Given the description of an element on the screen output the (x, y) to click on. 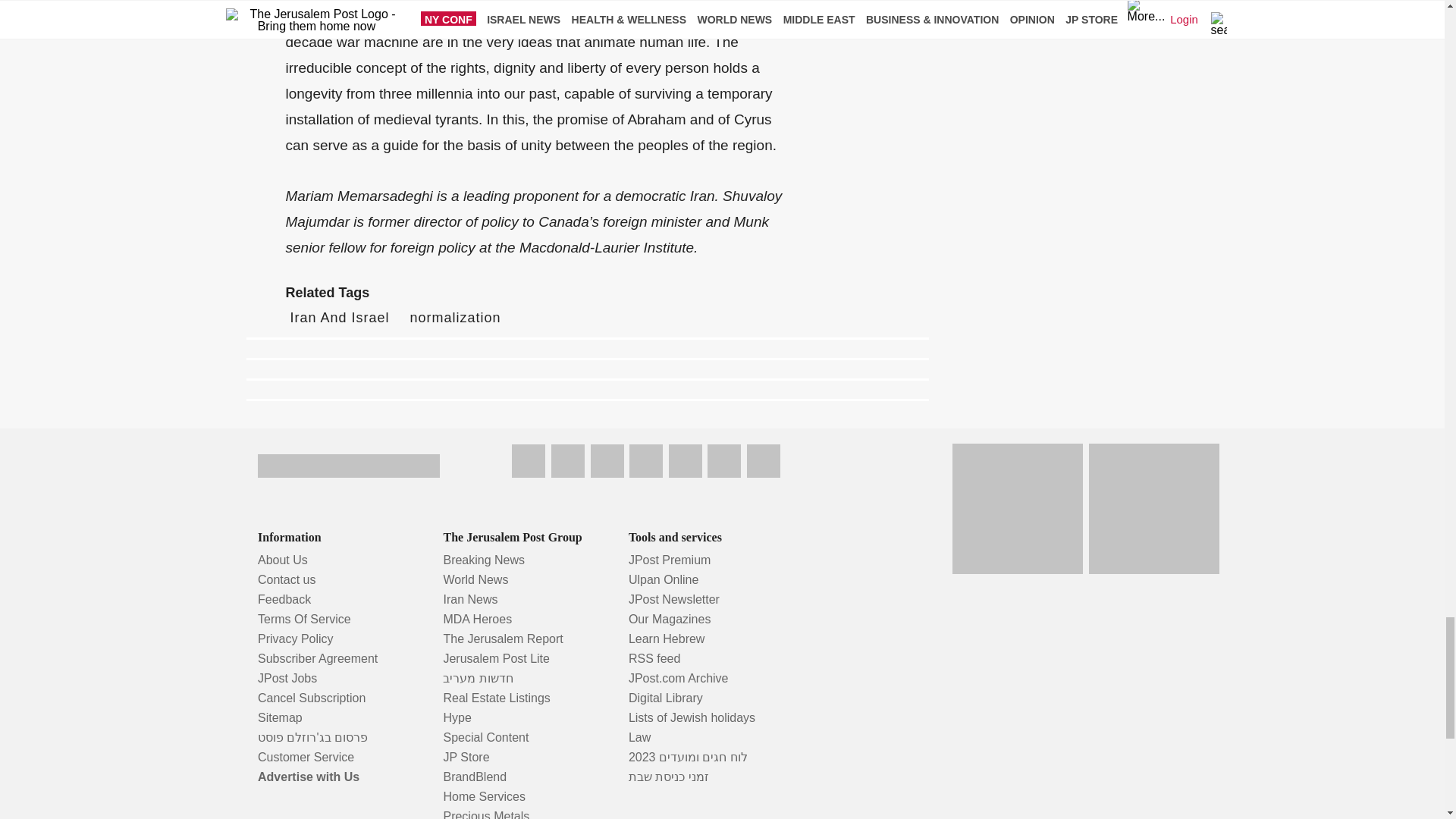
normalization (455, 317)
normalization (455, 317)
Iran And Israel (338, 317)
Iran And Israel (338, 317)
